Given the description of an element on the screen output the (x, y) to click on. 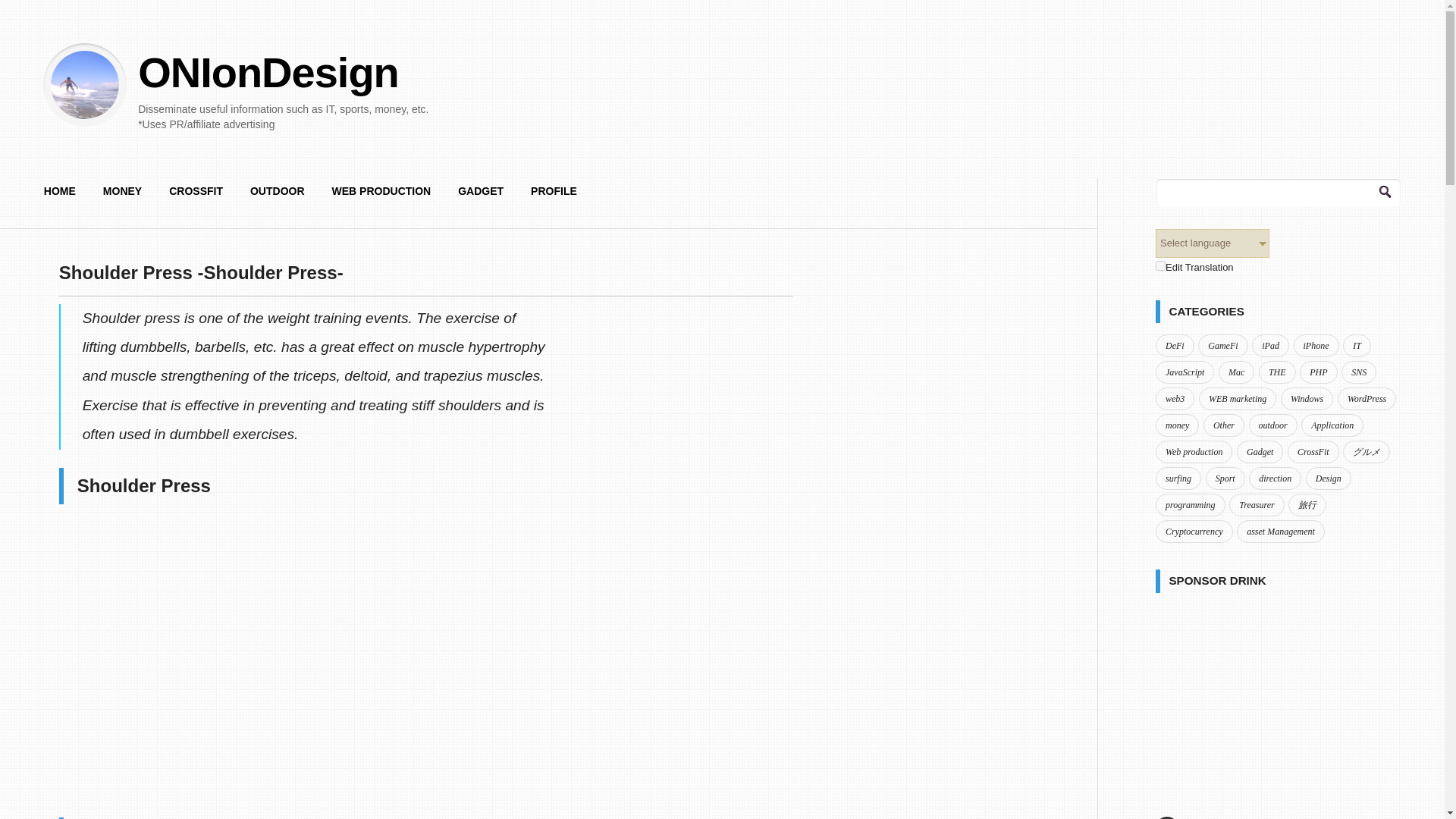
iPhone (1316, 345)
MONEY (121, 197)
Search (16, 7)
PROFILE (553, 197)
PHP (1318, 372)
OUTDOOR (276, 197)
CROSSFIT (195, 197)
iPad (1270, 345)
WEB PRODUCTION (381, 197)
THE (1277, 372)
